Given the description of an element on the screen output the (x, y) to click on. 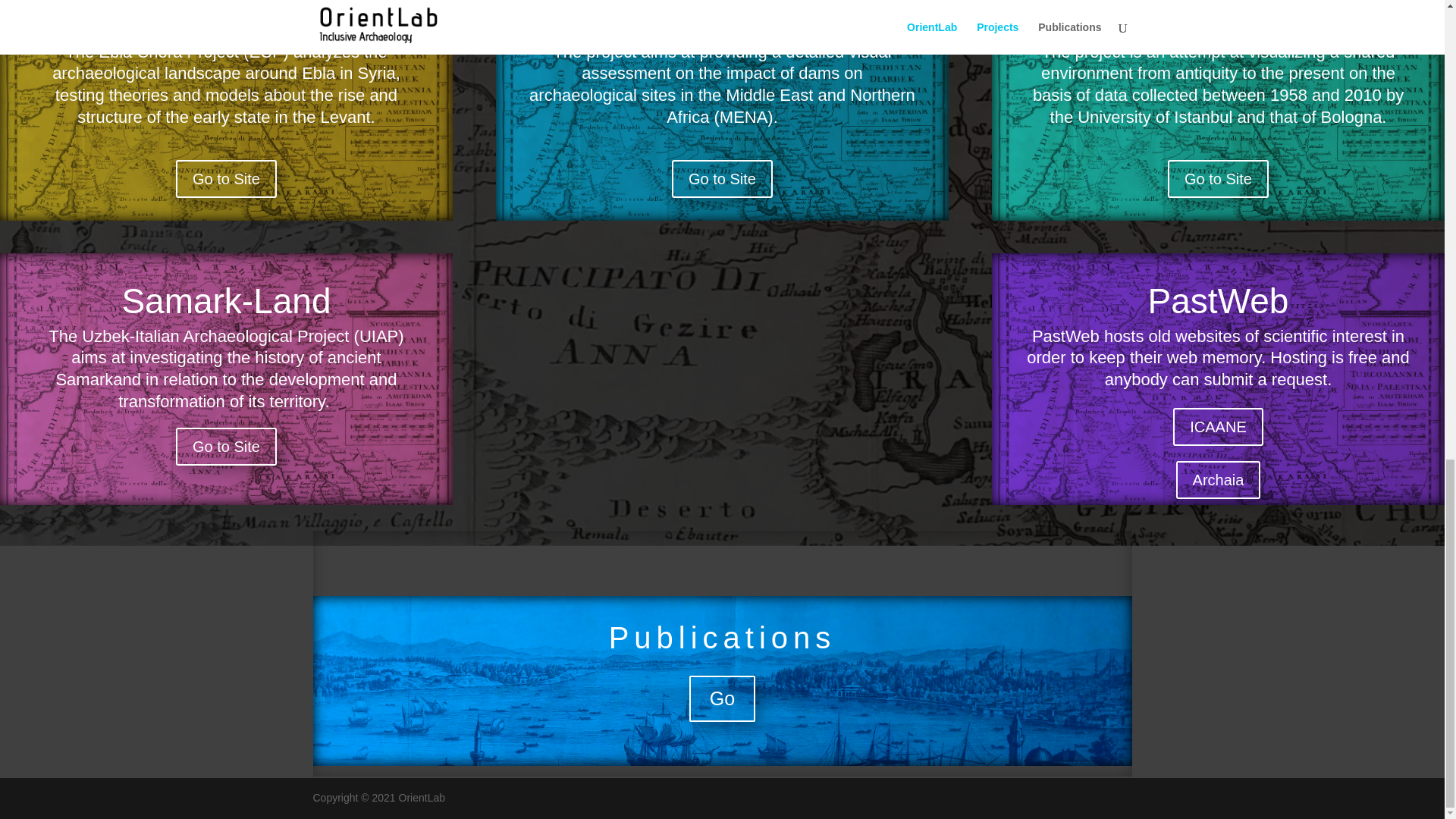
Go to Site (1217, 178)
ICAANE (1217, 426)
Go to Site (226, 178)
Archaia (1218, 479)
Go to Site (722, 178)
Go to Site (226, 446)
Go (721, 698)
